Given the description of an element on the screen output the (x, y) to click on. 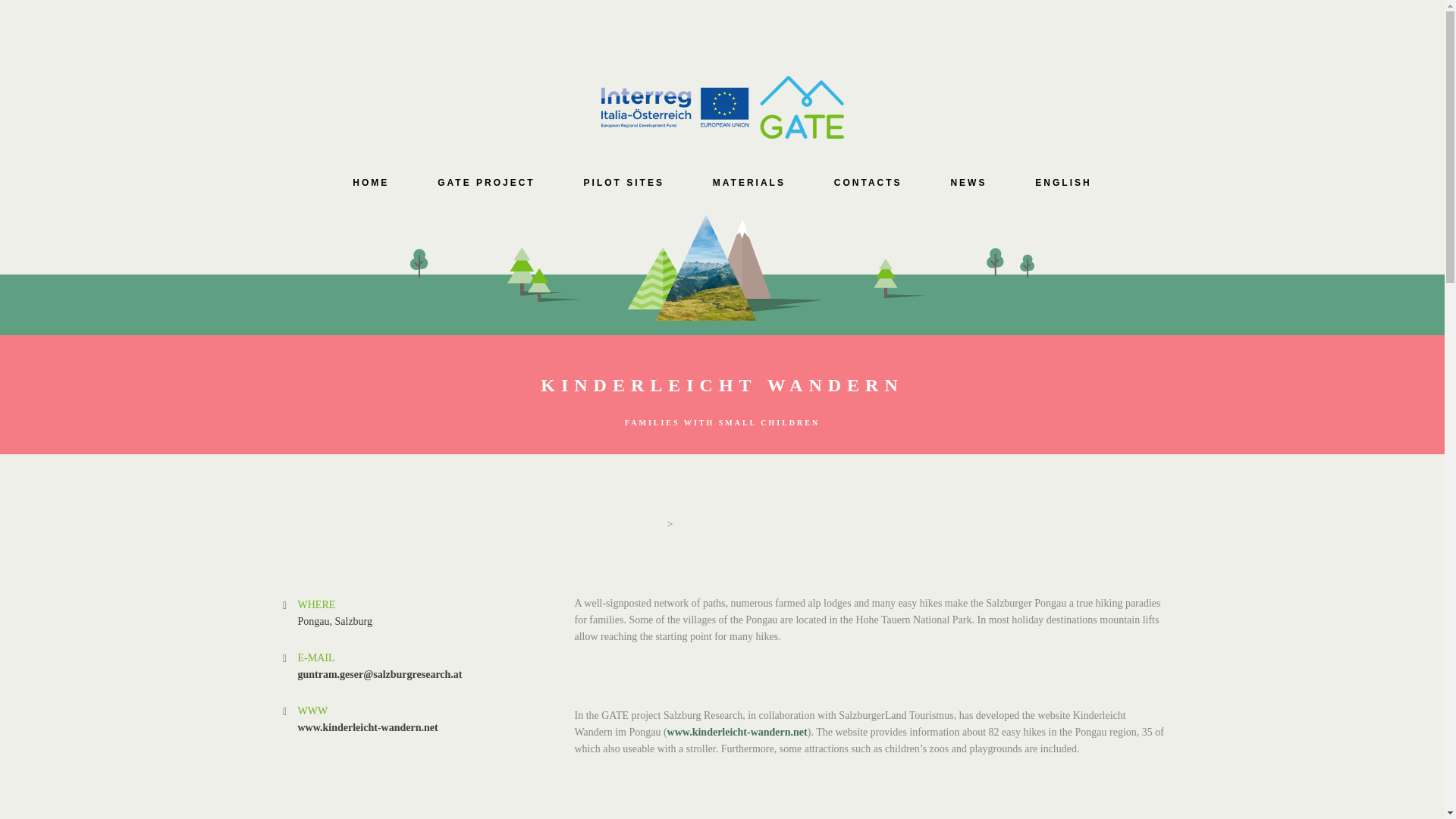
CONTACTS (868, 182)
GATE Project (486, 182)
Contacts (868, 182)
PILOT SITES (623, 182)
GATE PROJECT (486, 182)
www.kinderleicht-wandern.net (367, 727)
News (968, 182)
ENGLISH (1062, 182)
MATERIALS (749, 182)
Pilot Sites (623, 182)
HOME (370, 182)
www.kinderleicht-wandern.net (737, 731)
NEWS (968, 182)
English (1062, 182)
Home (370, 182)
